Given the description of an element on the screen output the (x, y) to click on. 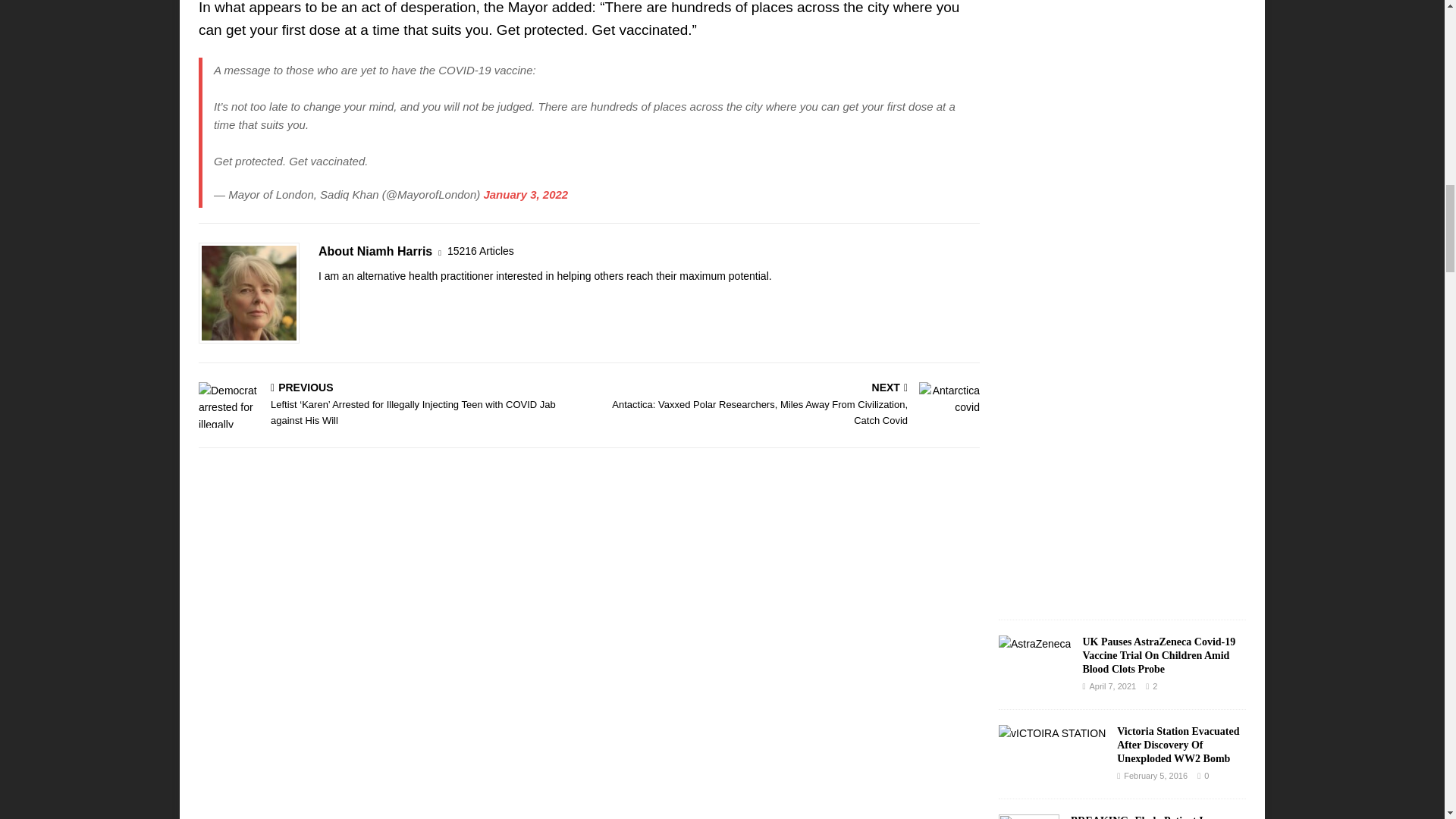
More articles written by Niamh Harris' (479, 251)
